Given the description of an element on the screen output the (x, y) to click on. 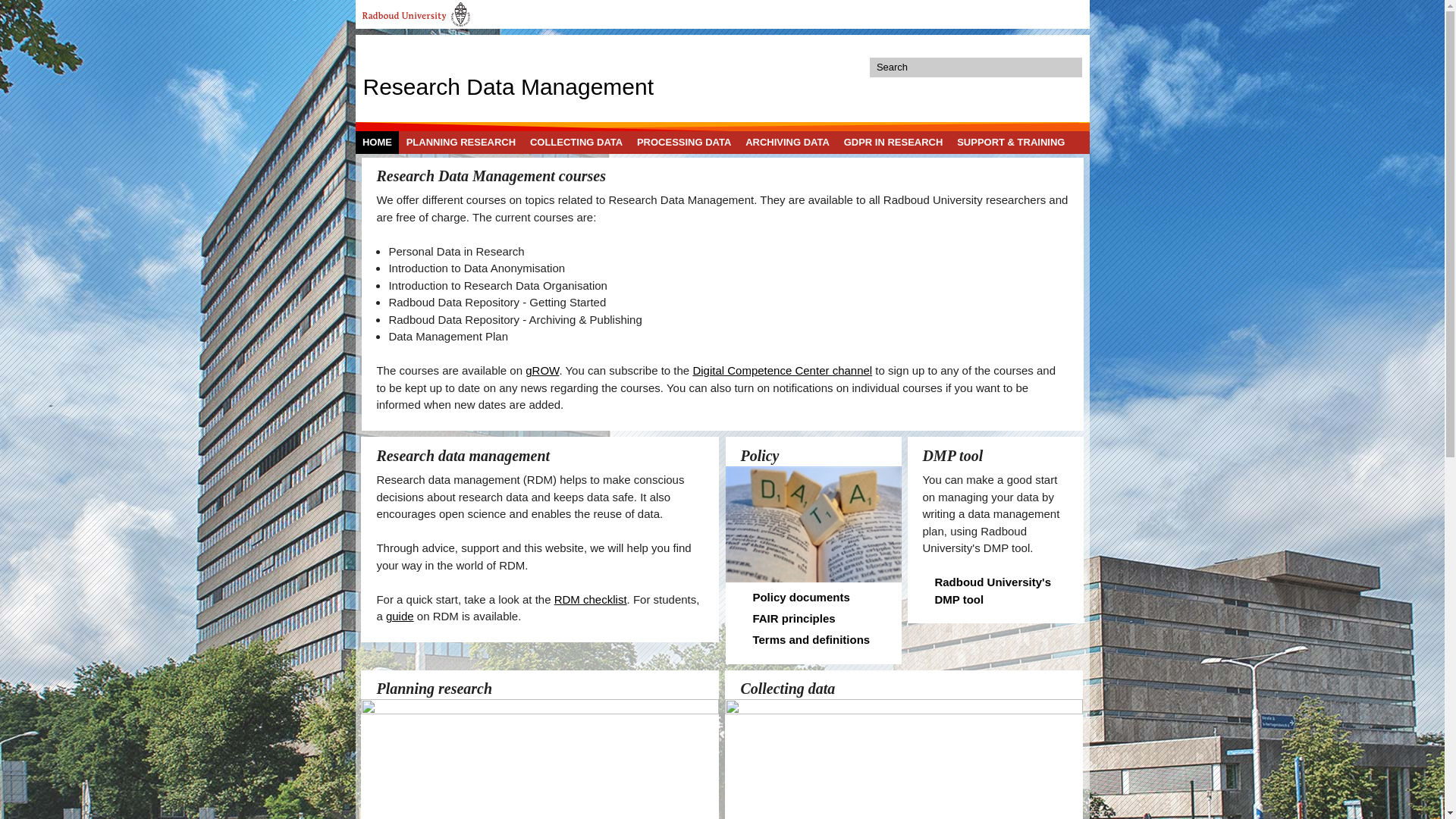
Research Data Management (507, 85)
GDPR IN RESEARCH (893, 141)
Radboud University (415, 14)
ARCHIVING DATA (787, 141)
COLLECTING DATA (576, 141)
PROCESSING DATA (683, 141)
Search (1070, 66)
PLANNING RESEARCH (460, 141)
HOME (376, 141)
